Given the description of an element on the screen output the (x, y) to click on. 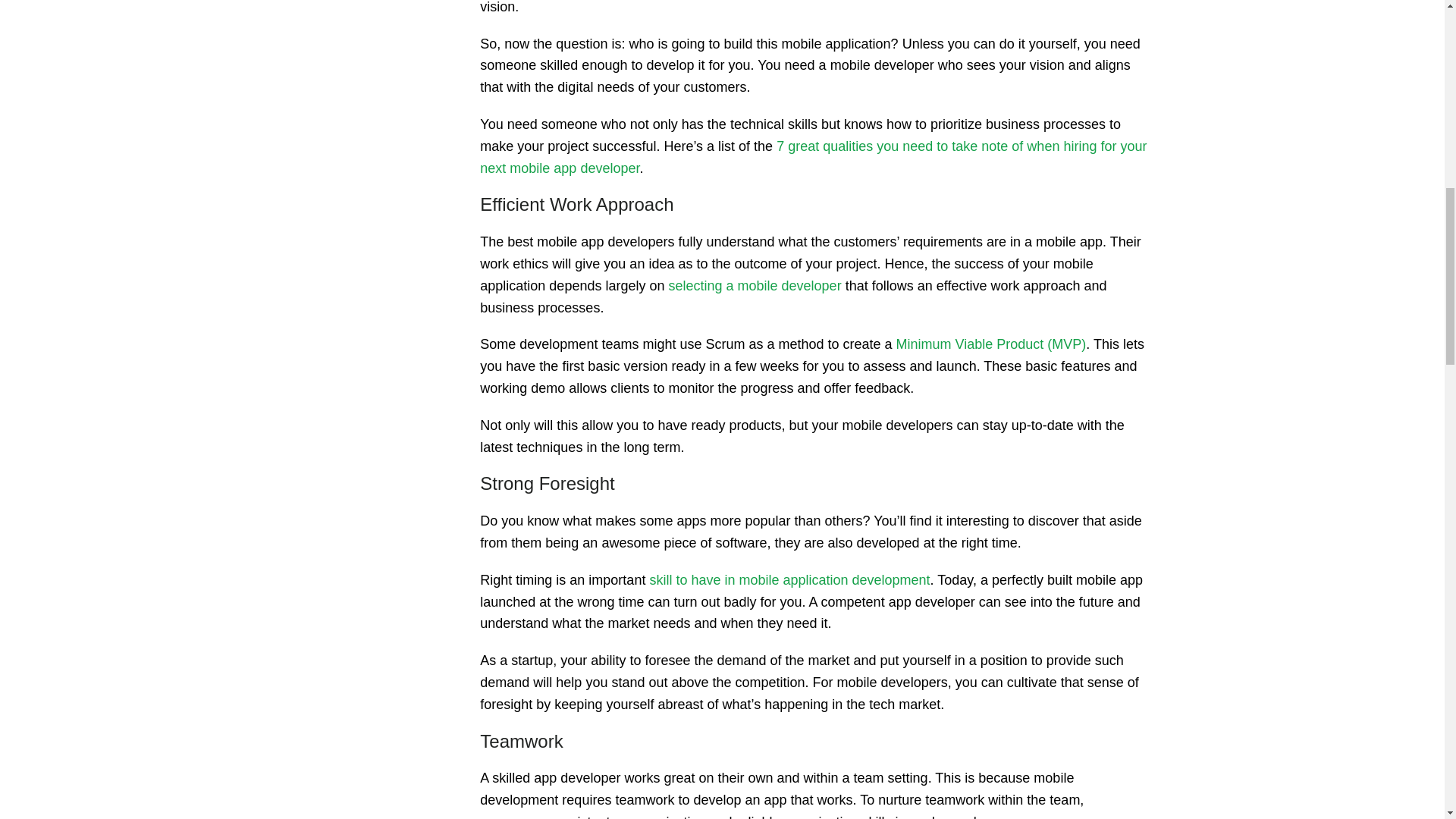
skill to have in mobile application development (789, 580)
selecting a mobile developer (754, 285)
